Given the description of an element on the screen output the (x, y) to click on. 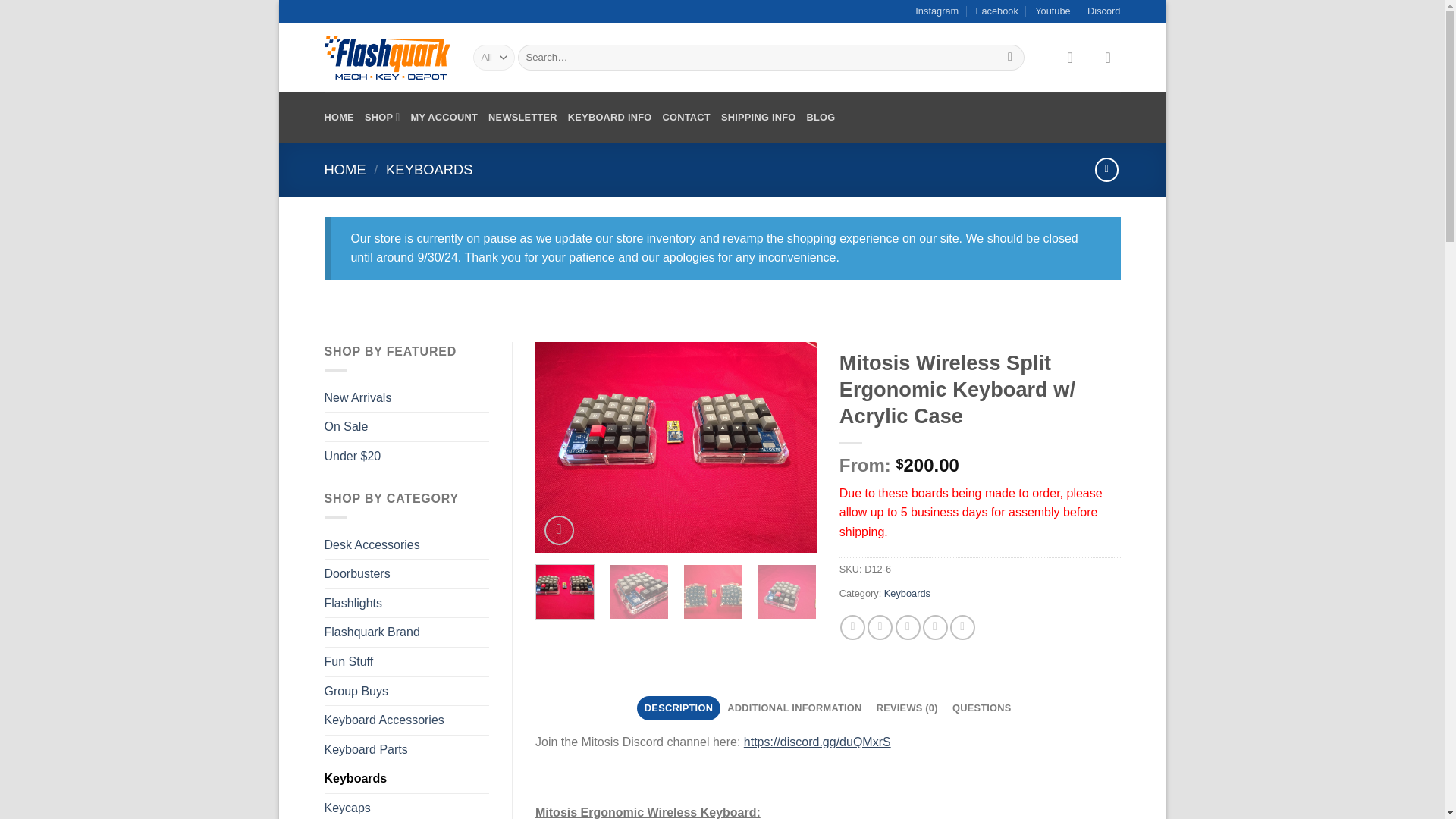
HOME (345, 169)
SHIPPING INFO (758, 116)
NEWSLETTER (522, 116)
New Arrivals (357, 398)
Share on Facebook (852, 627)
MY ACCOUNT (444, 116)
CONTACT (686, 116)
KEYBOARD INFO (609, 116)
KEYBOARDS (428, 169)
